Given the description of an element on the screen output the (x, y) to click on. 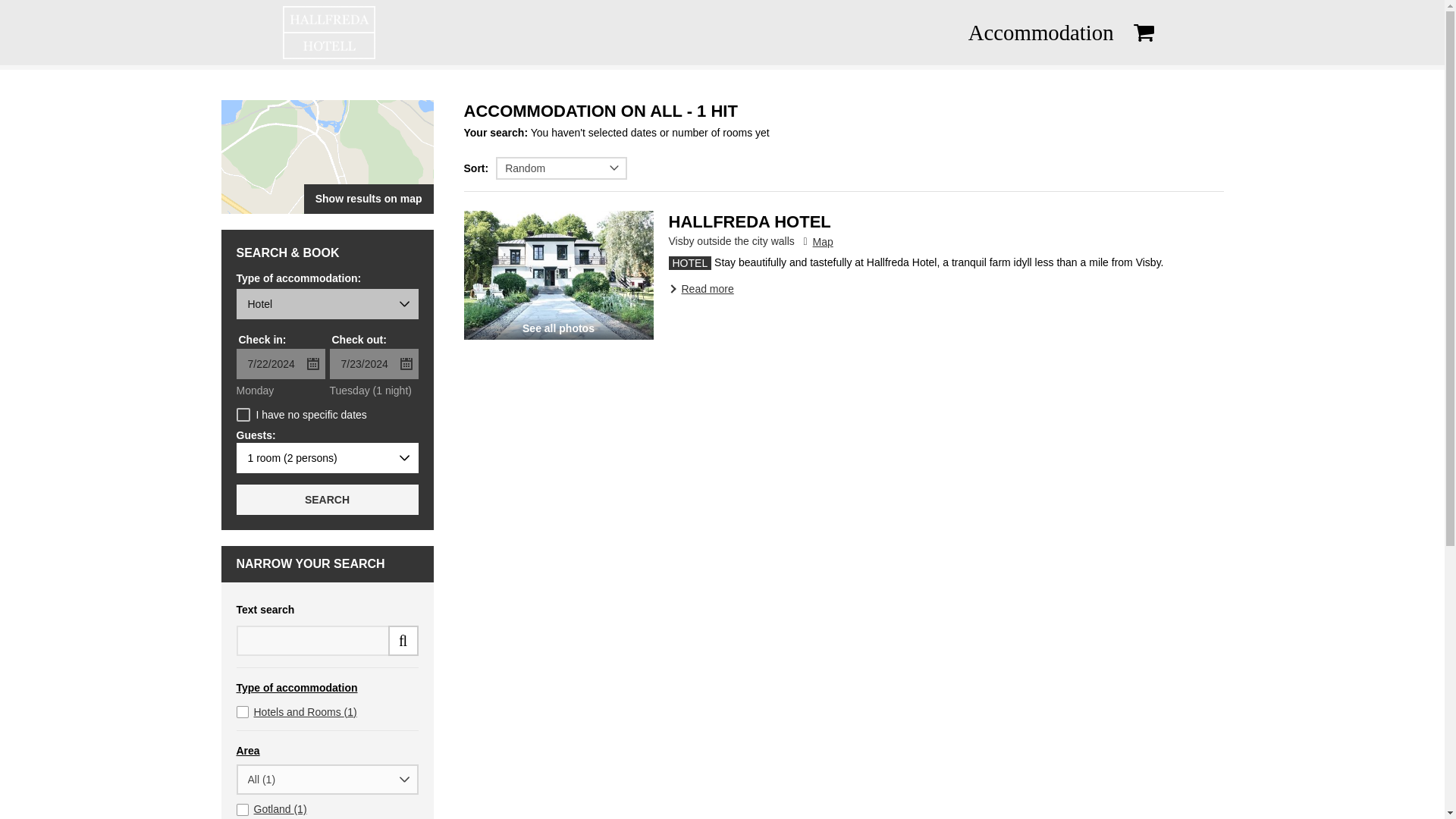
SEARCH (327, 499)
Search (22, 8)
Area (327, 751)
HALLFREDA HOTEL (749, 221)
Type of accommodation (327, 304)
Check-in (279, 363)
Accommodation (1040, 32)
Read more (700, 288)
Hallfreda Hotel (558, 274)
See all photos (558, 274)
Check-out (373, 363)
Show results on map (327, 156)
Map (817, 242)
Search (327, 499)
Type of accommodation (327, 688)
